Given the description of an element on the screen output the (x, y) to click on. 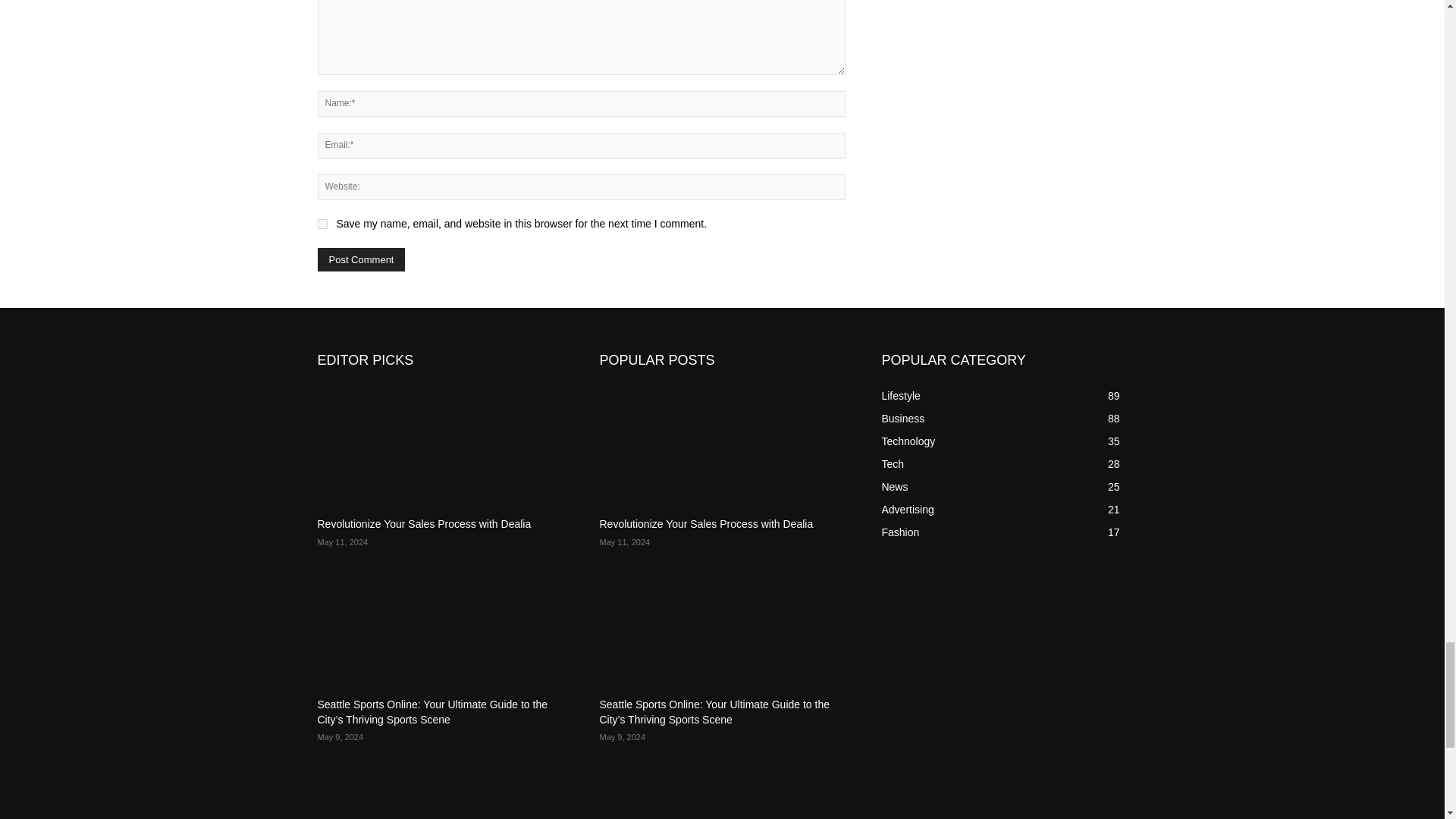
yes (321, 224)
Post Comment (360, 259)
